Given the description of an element on the screen output the (x, y) to click on. 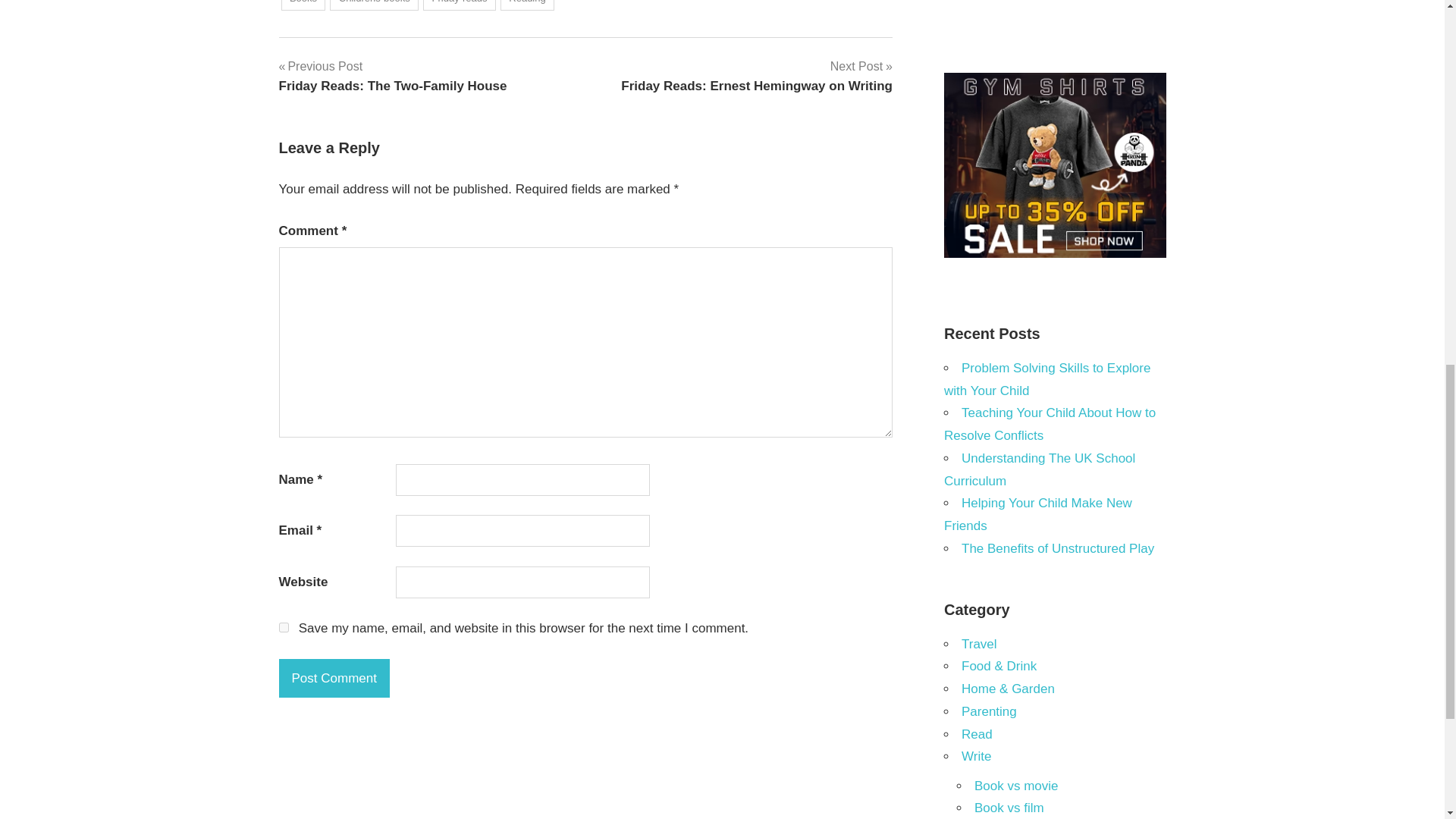
Problem Solving Skills to Explore with Your Child (1046, 379)
gym shirts (1054, 253)
Helping Your Child Make New Friends (1037, 514)
Childrens-books (756, 75)
Understanding The UK School Curriculum (374, 5)
Books (1039, 469)
Teaching Your Child About How to Resolve Conflicts (302, 5)
Friday-reads (1049, 424)
Post Comment (459, 5)
